Given the description of an element on the screen output the (x, y) to click on. 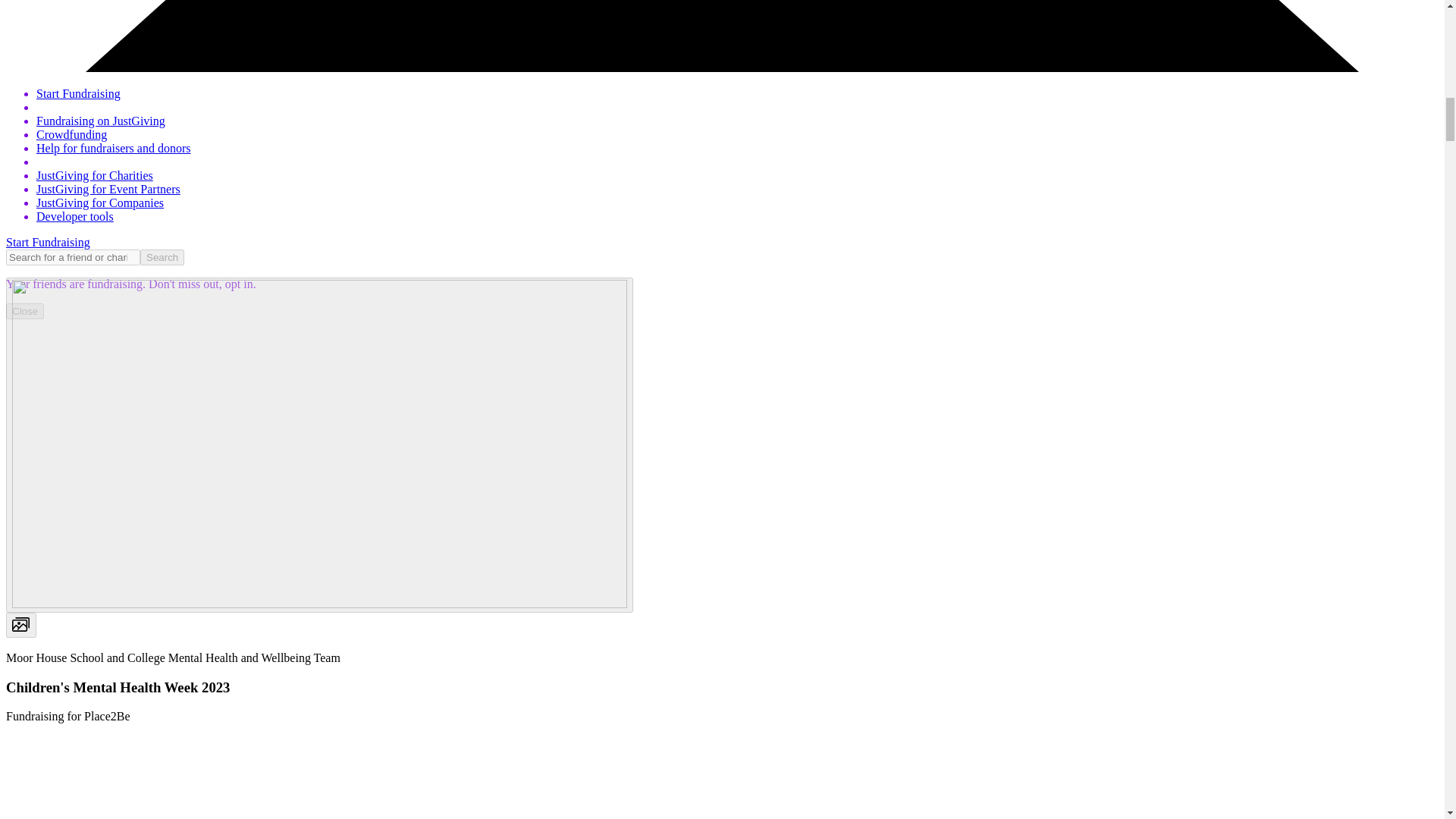
Start Fundraising (47, 241)
opt in. (239, 283)
Fundraising on JustGiving (100, 120)
JustGiving for Event Partners (108, 188)
Close (24, 311)
Developer tools (74, 215)
Search (161, 257)
Search (161, 257)
Crowdfunding (71, 133)
Search (161, 257)
Help for fundraisers and donors (113, 147)
Start Fundraising (78, 92)
JustGiving for Charities (94, 174)
JustGiving for Companies (99, 202)
